Given the description of an element on the screen output the (x, y) to click on. 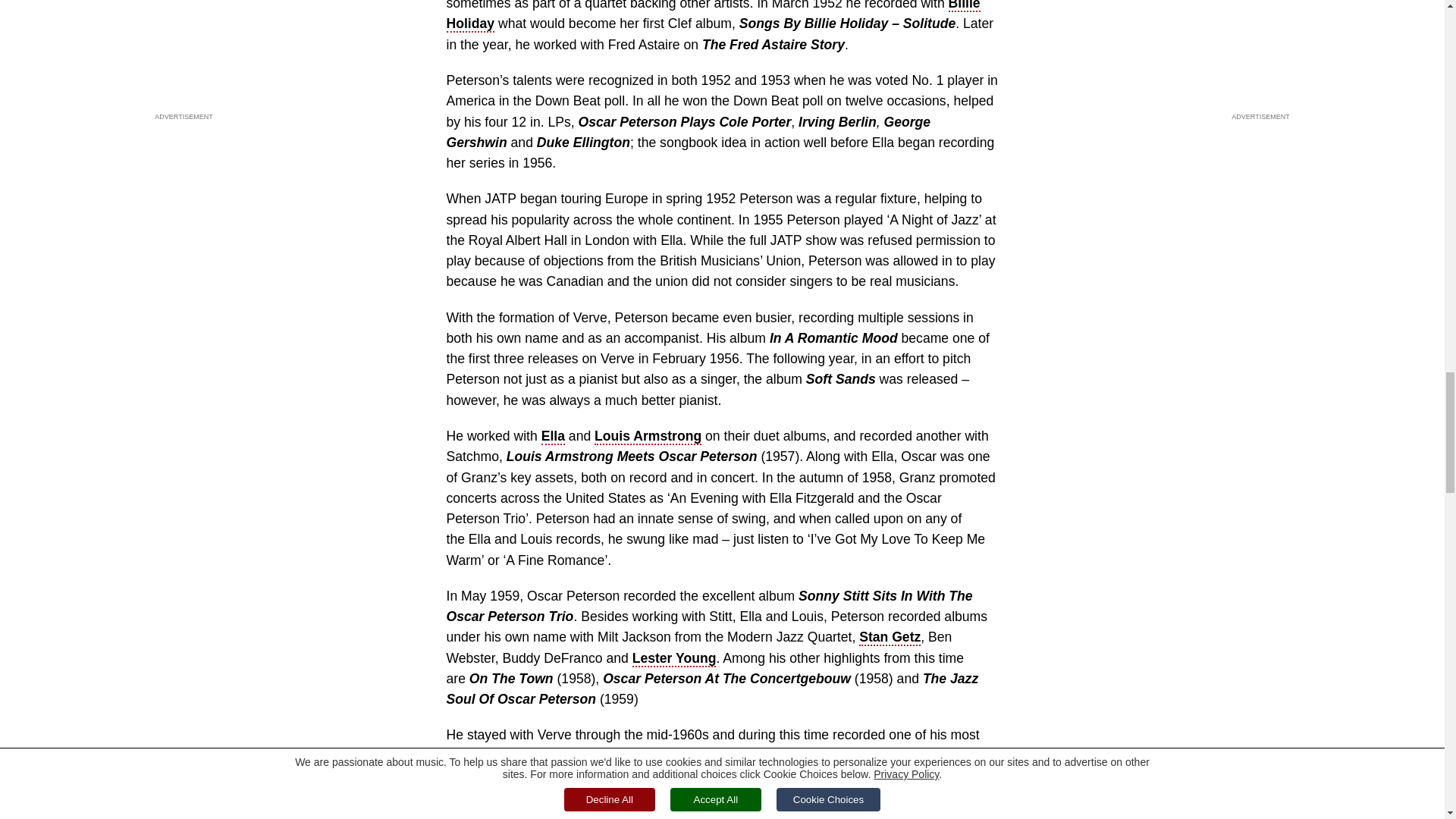
Stan Getz (889, 637)
Louis Armstrong (647, 436)
